Given the description of an element on the screen output the (x, y) to click on. 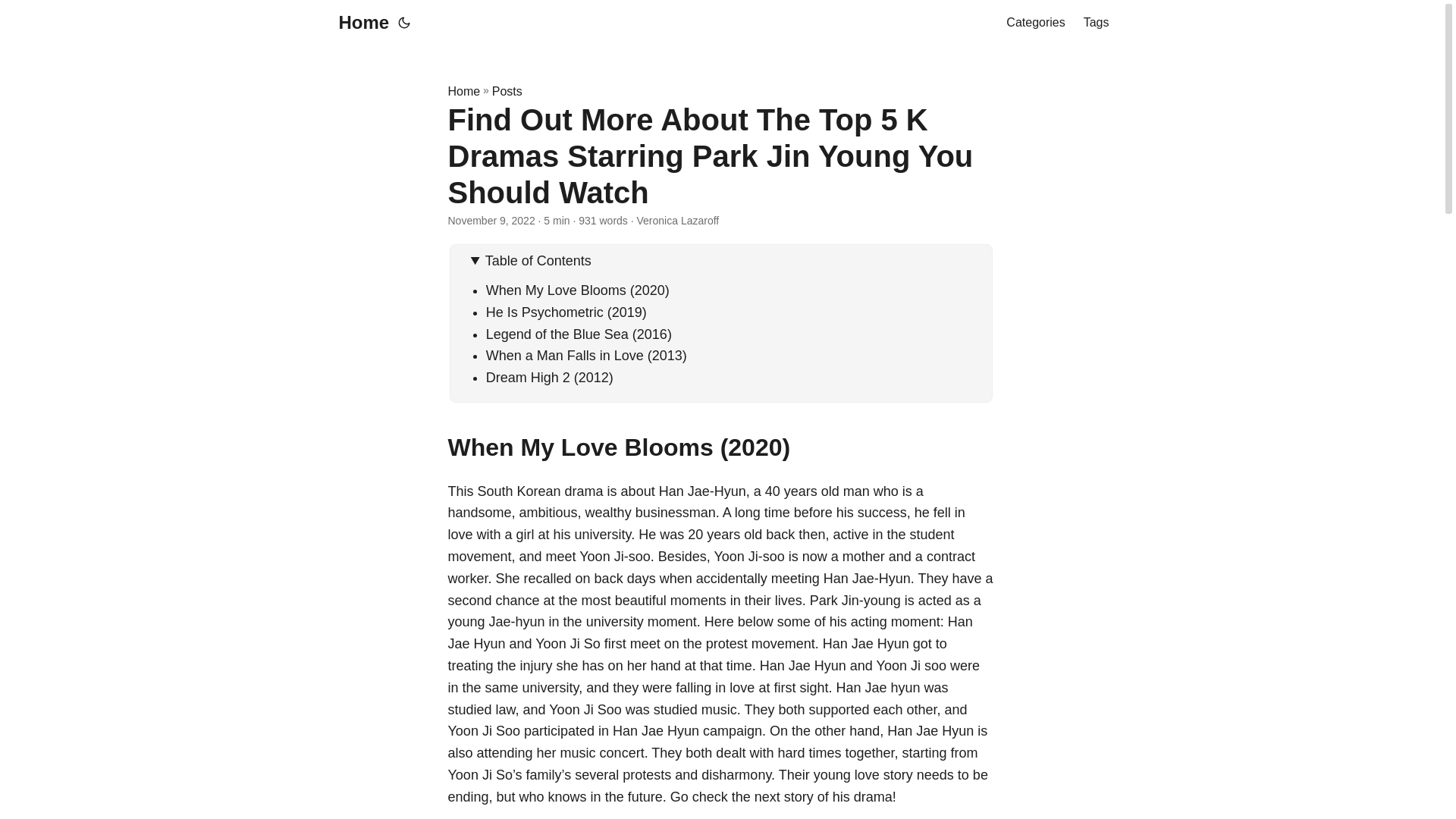
Home (359, 22)
Categories (1035, 22)
Categories (1035, 22)
Home (463, 91)
Posts (507, 91)
